Given the description of an element on the screen output the (x, y) to click on. 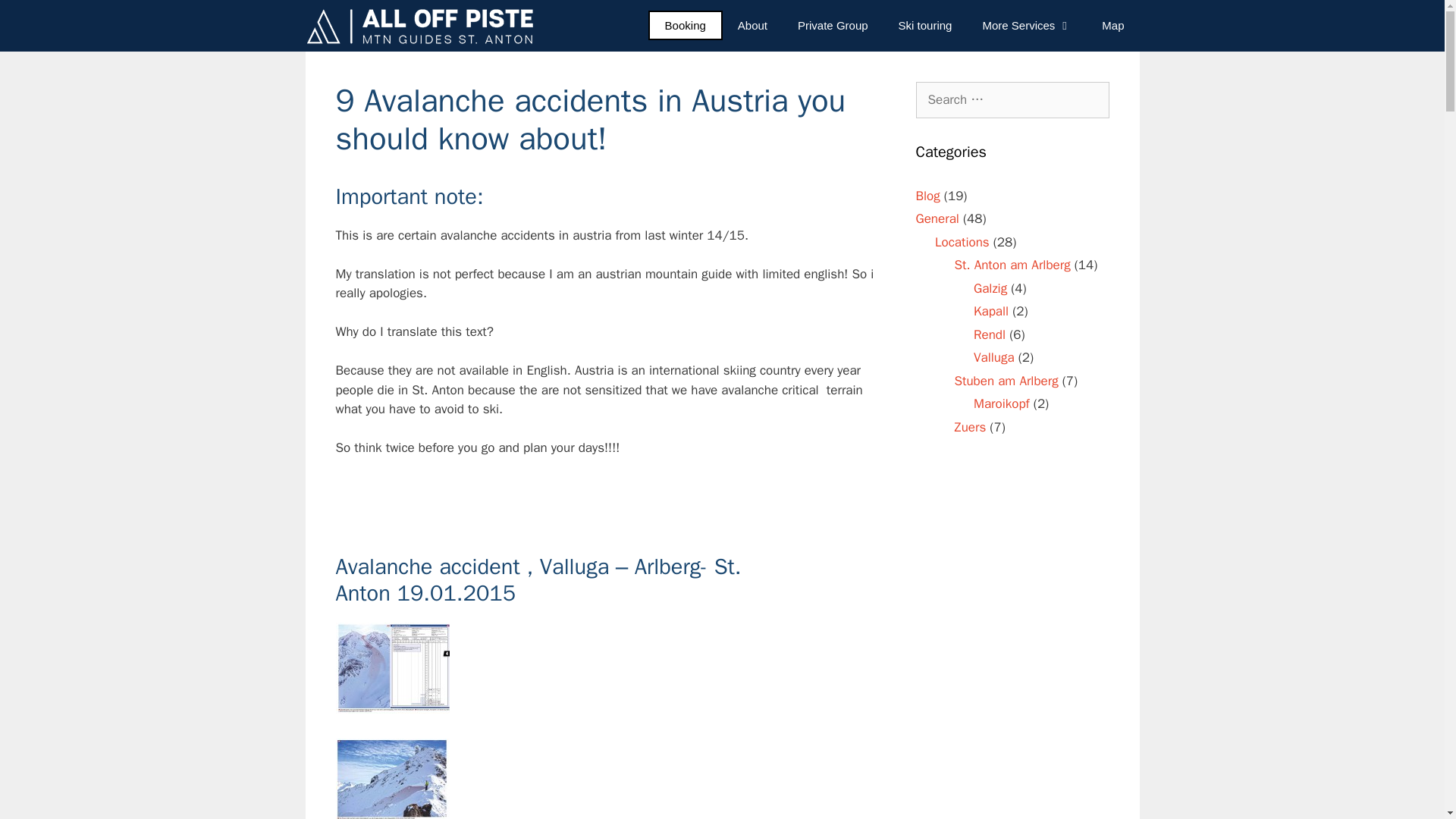
Booking (684, 25)
Private Group (833, 25)
About (752, 25)
Ski touring (925, 25)
Map (1112, 25)
Booking (684, 25)
More Services (1026, 25)
Guiding (833, 25)
About (752, 25)
